Given the description of an element on the screen output the (x, y) to click on. 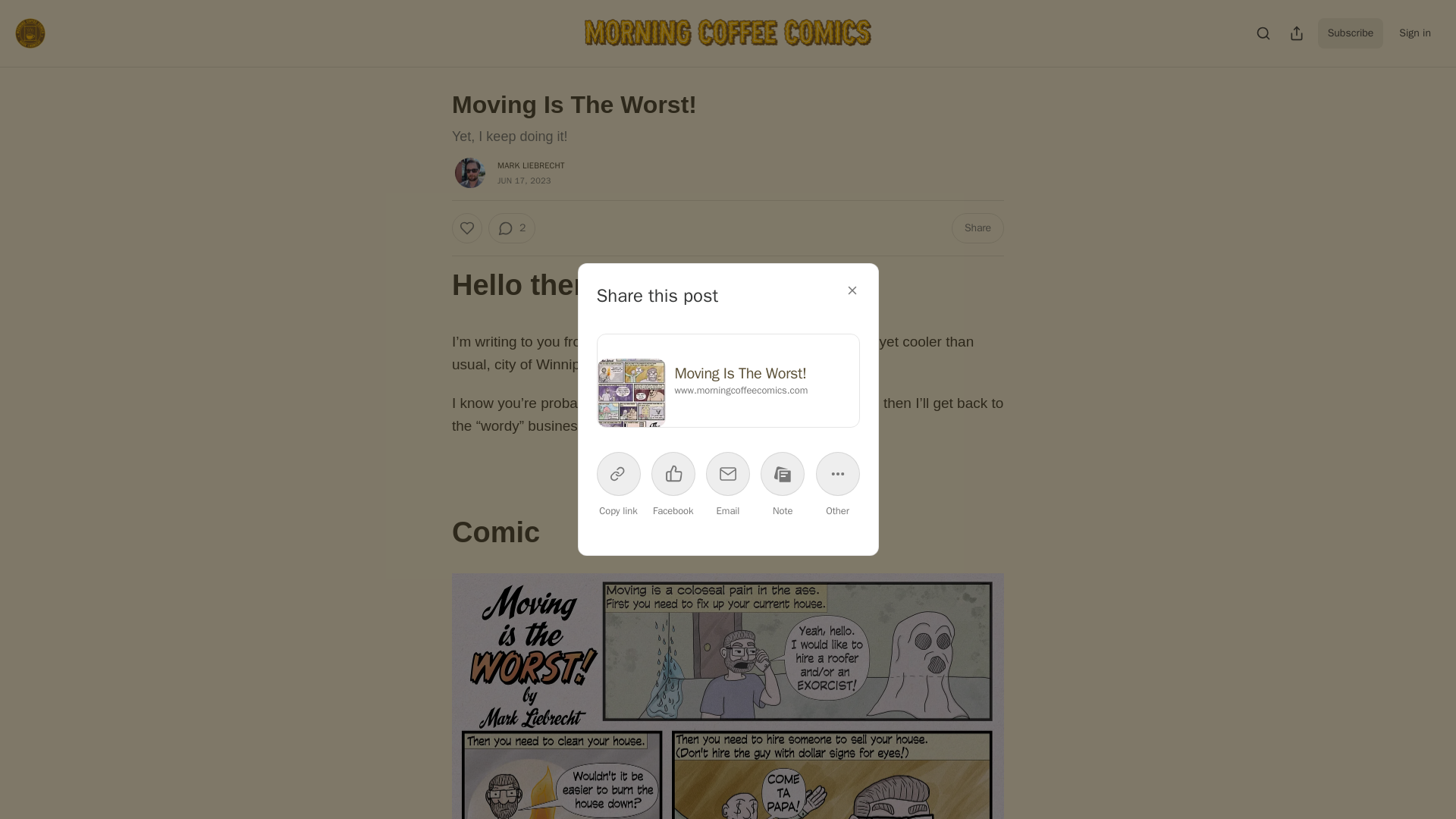
2 (511, 227)
Share (978, 227)
Subscribe (1350, 33)
MARK LIEBRECHT (530, 164)
Share (727, 469)
Sign in (1415, 33)
